Given the description of an element on the screen output the (x, y) to click on. 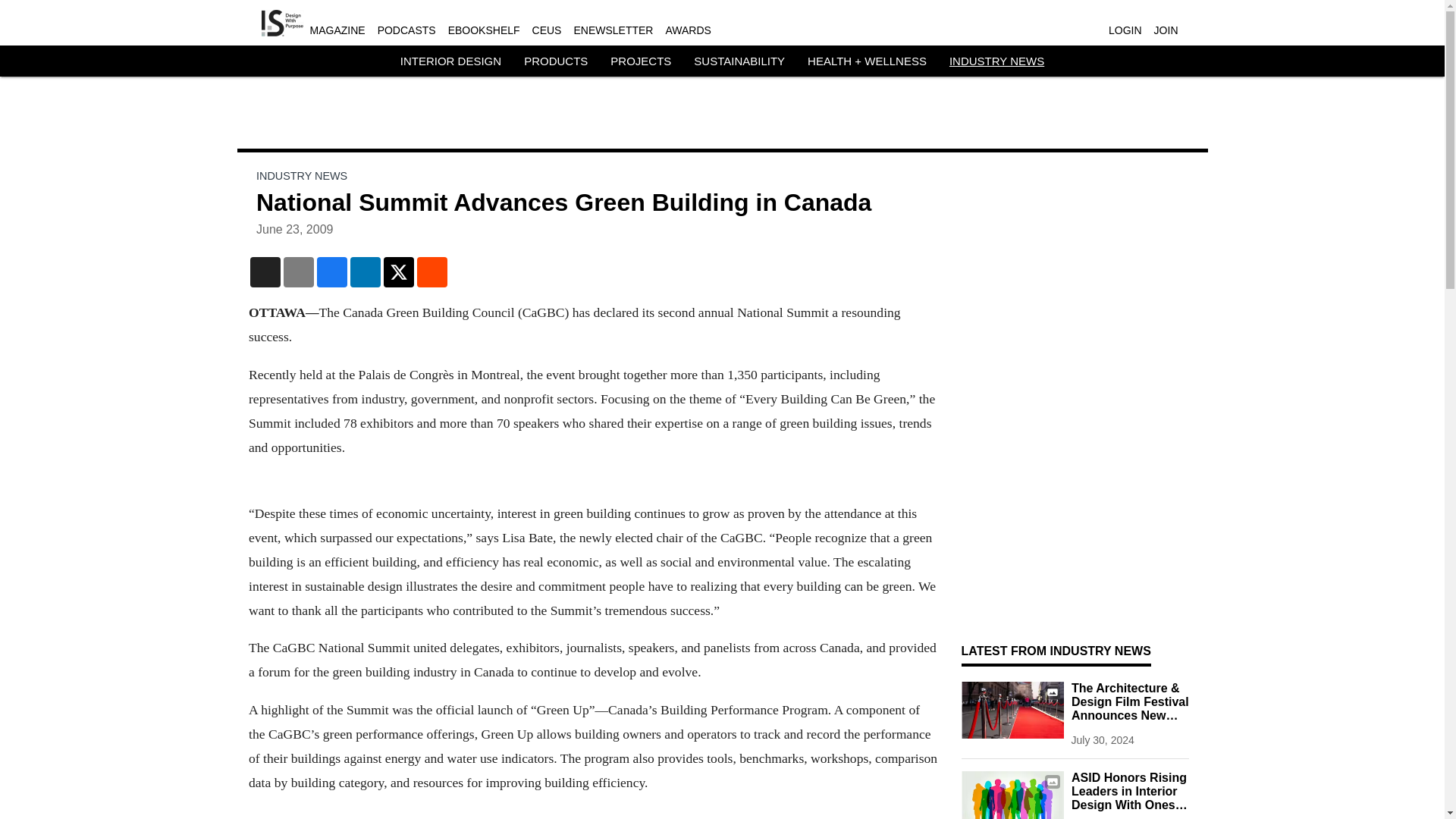
CEUS (547, 30)
SUSTAINABILITY (739, 60)
PROJECTS (640, 60)
EBOOKSHELF (483, 30)
LOGIN (1124, 30)
PODCASTS (406, 30)
JOIN (1165, 30)
PRODUCTS (556, 60)
INTERIOR DESIGN (450, 60)
ENEWSLETTER (612, 30)
AWARDS (687, 30)
MAGAZINE (336, 30)
INDUSTRY NEWS (996, 60)
